Given the description of an element on the screen output the (x, y) to click on. 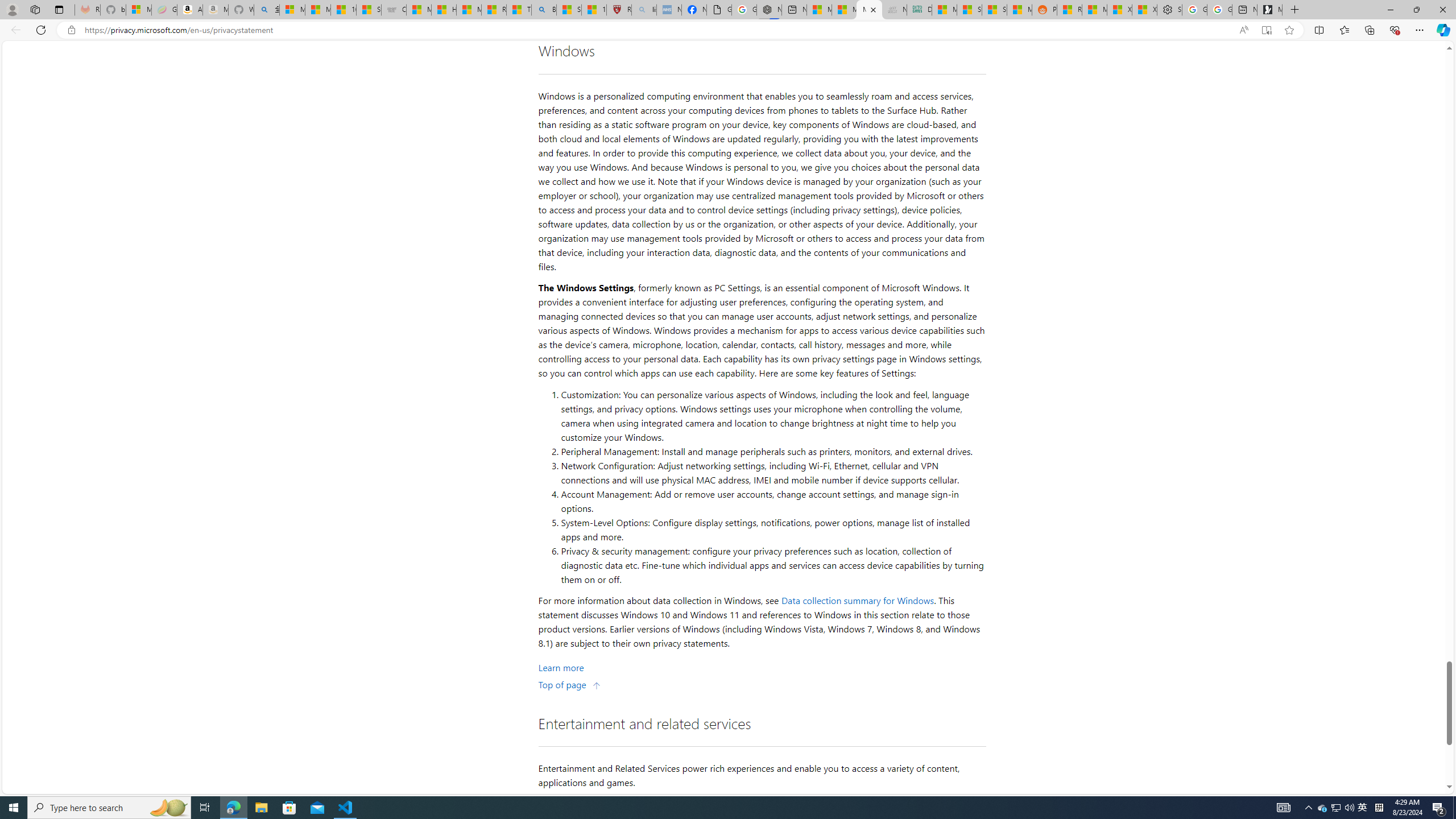
Recipes - MSN (493, 9)
Bing (544, 9)
How I Got Rid of Microsoft Edge's Unnecessary Features (443, 9)
Microsoft-Report a Concern to Bing (137, 9)
